Given the description of an element on the screen output the (x, y) to click on. 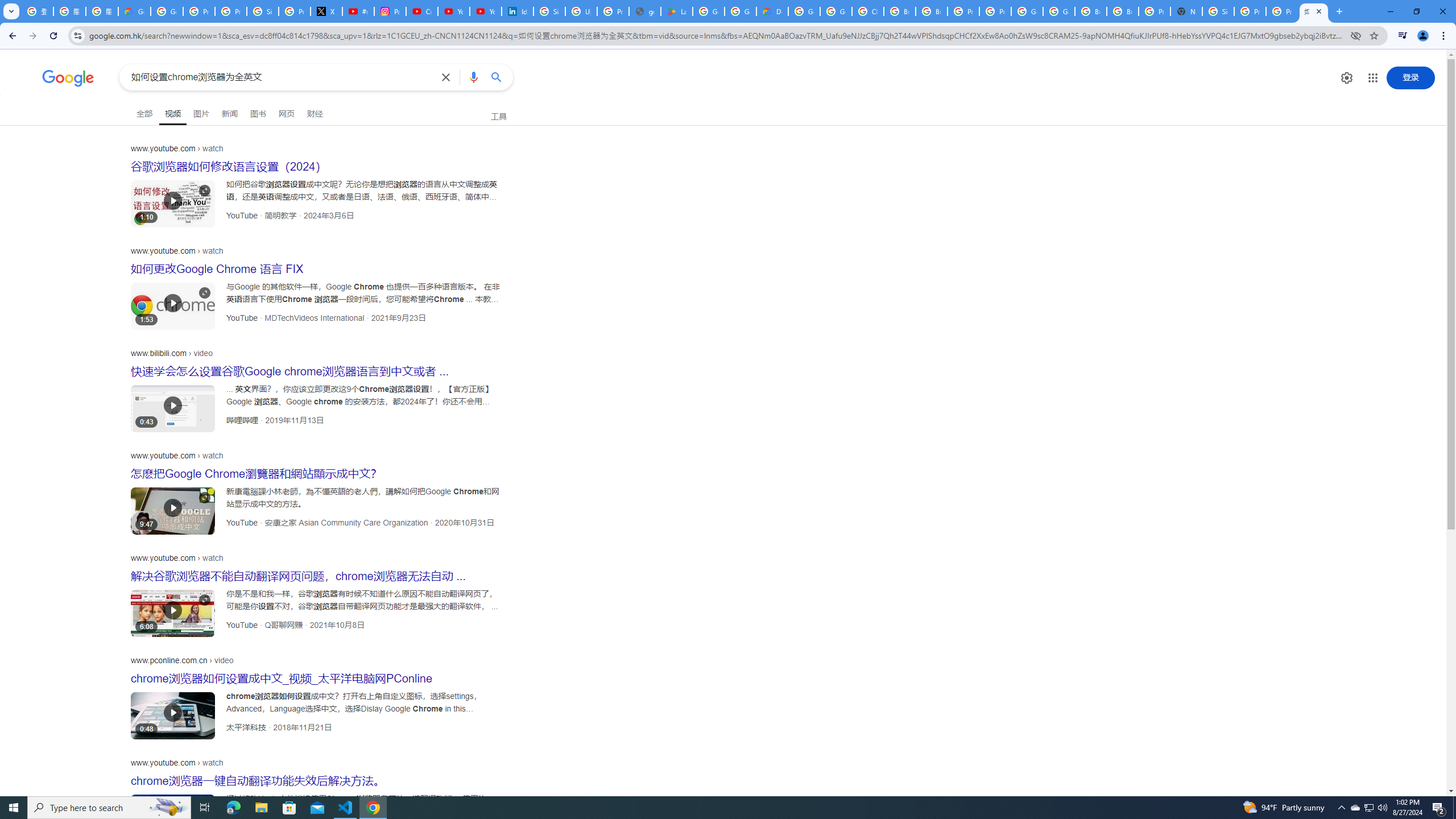
#nbabasketballhighlights - YouTube (358, 11)
Privacy Help Center - Policies Help (230, 11)
google_privacy_policy_en.pdf (644, 11)
Google Cloud Platform (804, 11)
Identity verification via Persona | LinkedIn Help (517, 11)
